Given the description of an element on the screen output the (x, y) to click on. 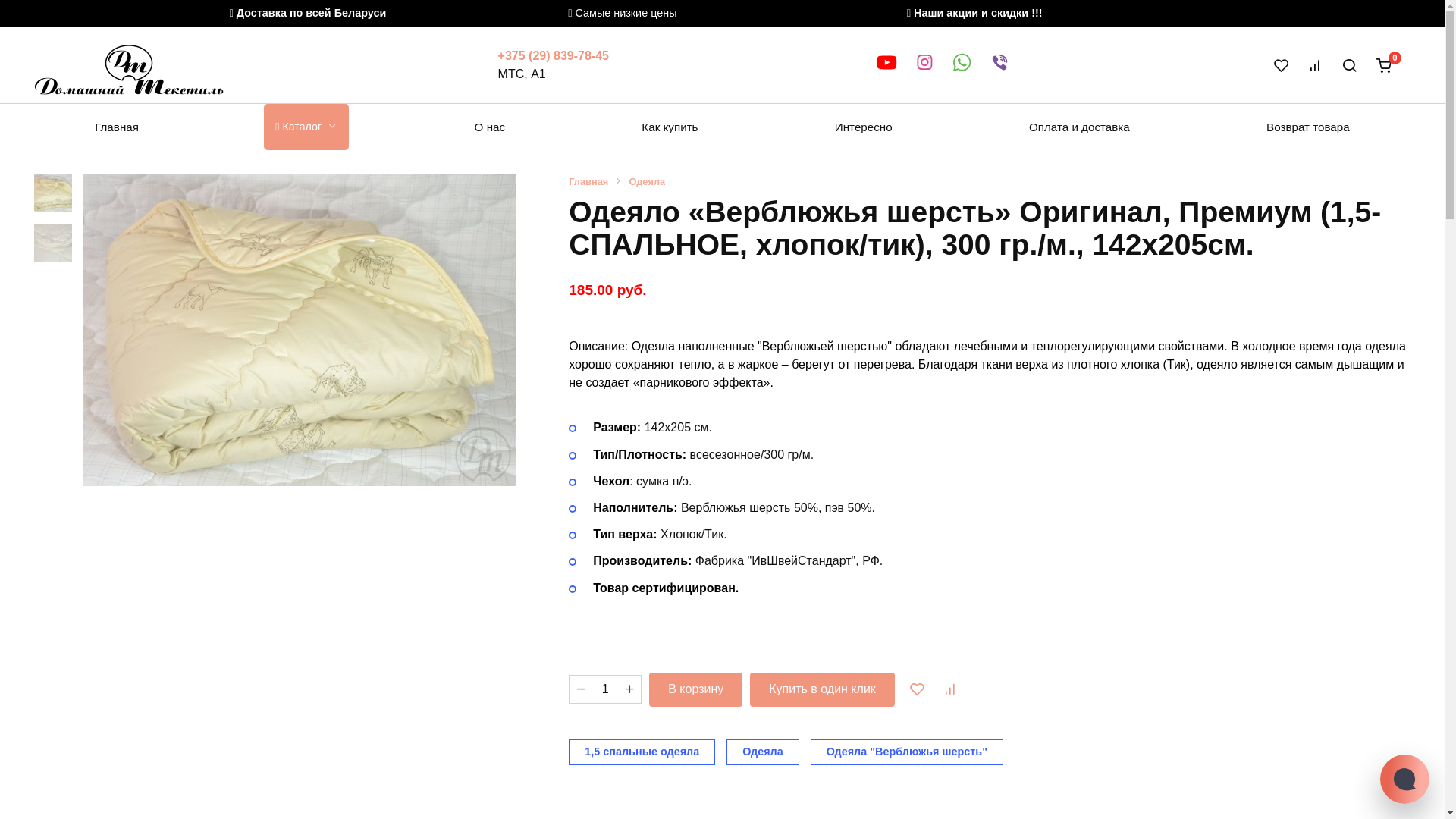
0 Element type: text (1388, 64)
DSC_1575 Element type: hover (299, 330)
+375 (29) 839-78-45 Element type: text (553, 55)
